Given the description of an element on the screen output the (x, y) to click on. 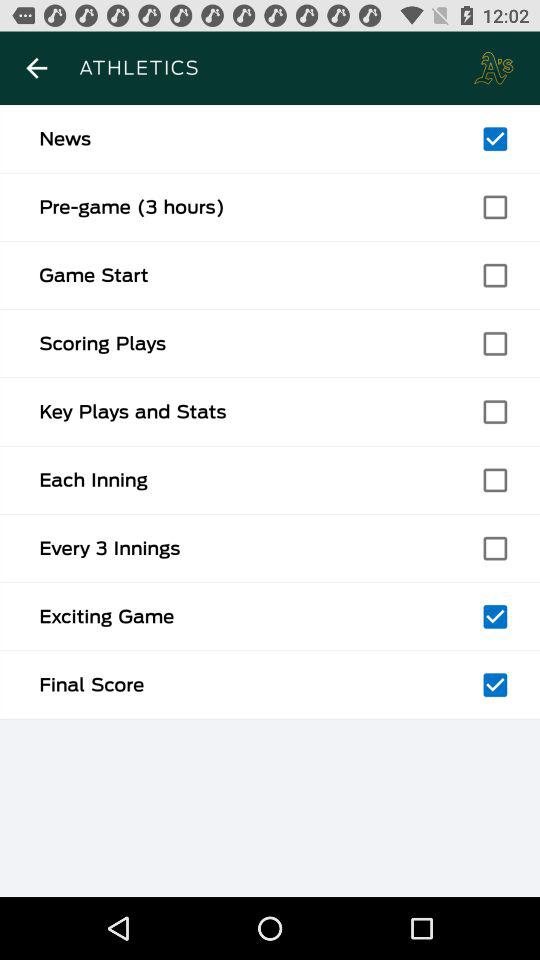
uncheck option (495, 616)
